Given the description of an element on the screen output the (x, y) to click on. 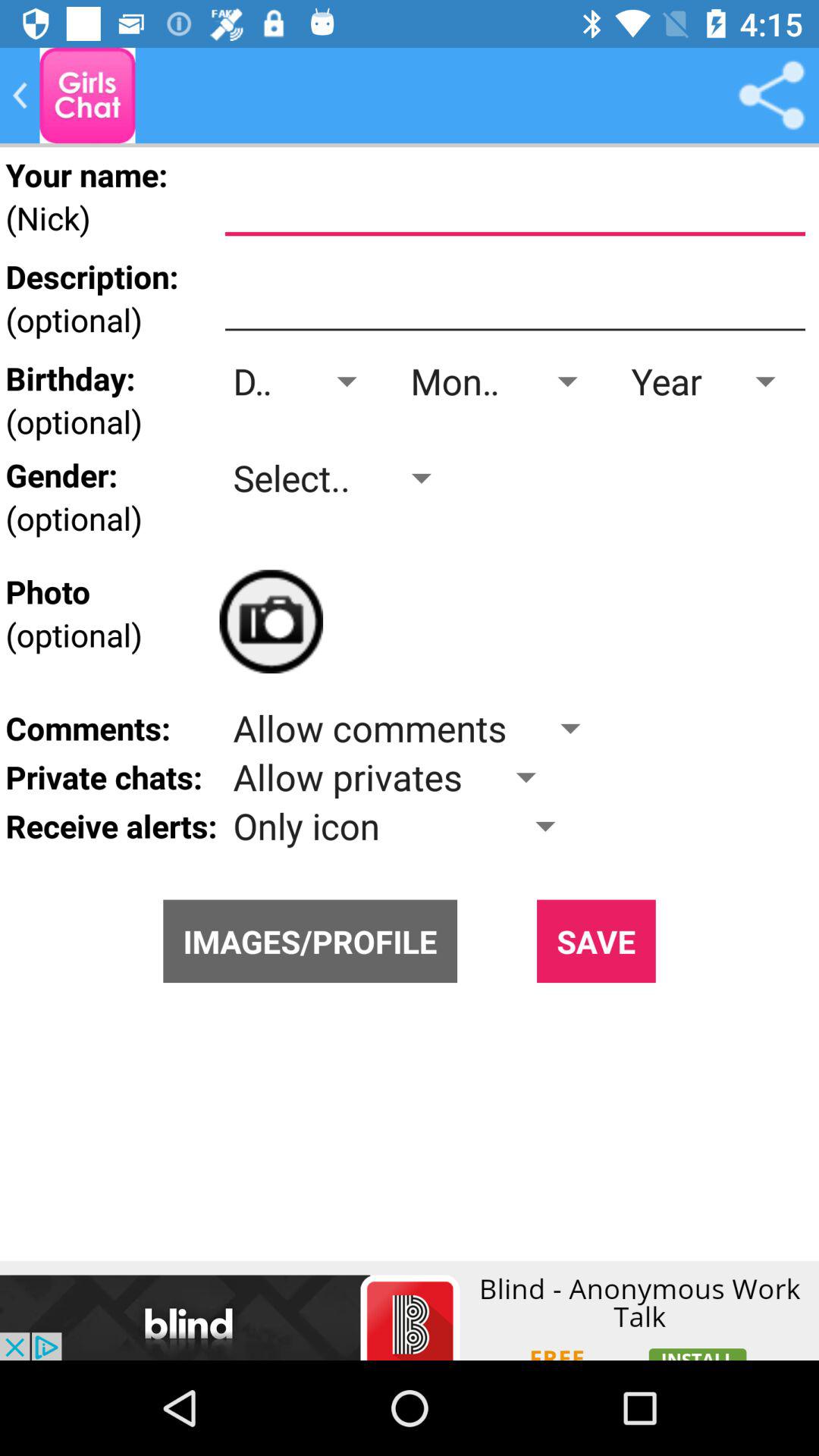
go back previous page (19, 95)
